Given the description of an element on the screen output the (x, y) to click on. 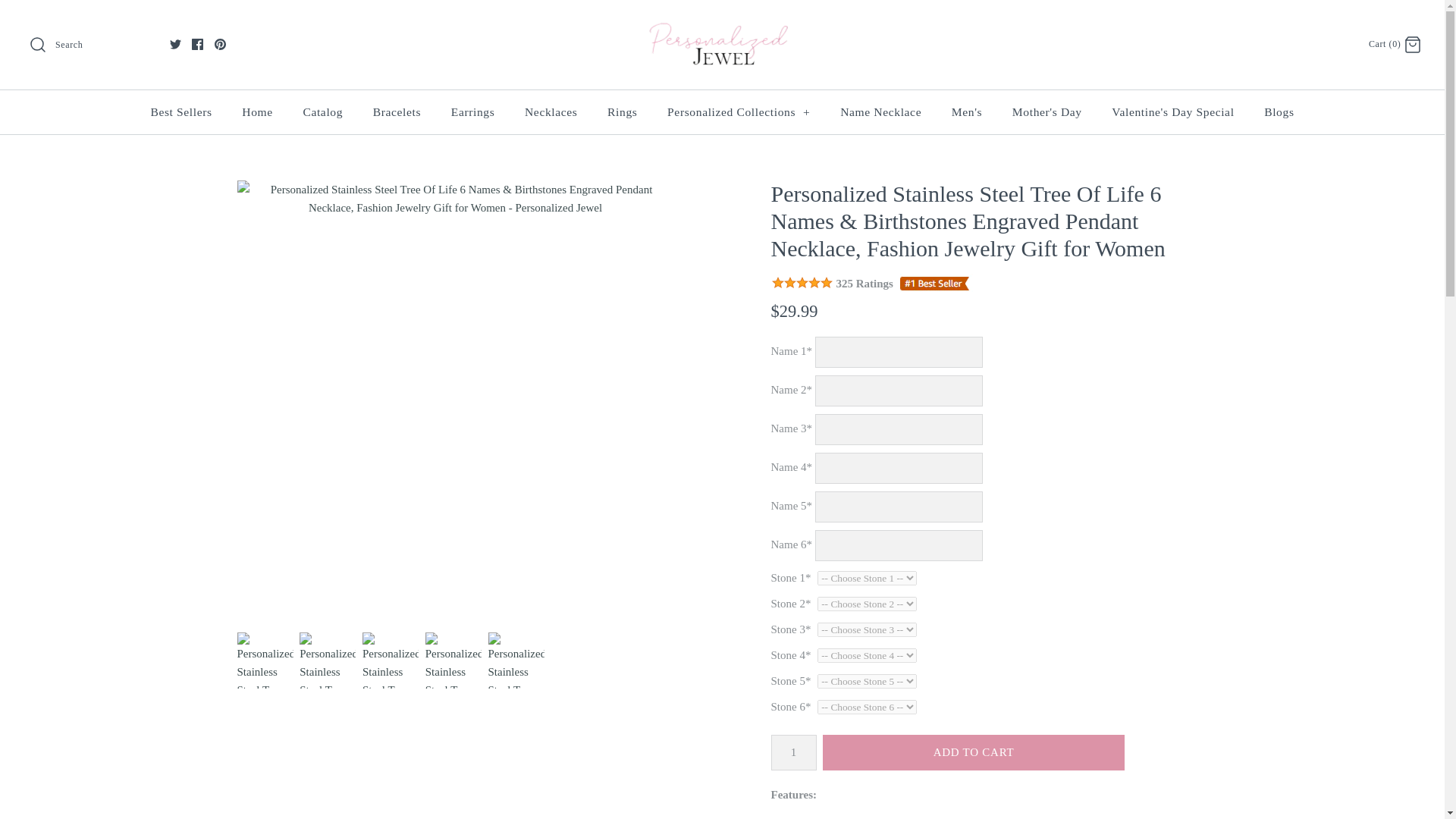
Cart (1412, 45)
Name Necklace (880, 111)
Earrings (473, 111)
Bracelets (396, 111)
Twitter (175, 43)
Facebook (197, 43)
Add to Cart (973, 751)
Home (257, 111)
Catalog (322, 111)
1 (792, 751)
Personalized Jewel (721, 24)
Rings (622, 111)
Best Sellers (180, 111)
Pinterest (219, 43)
Necklaces (551, 111)
